Given the description of an element on the screen output the (x, y) to click on. 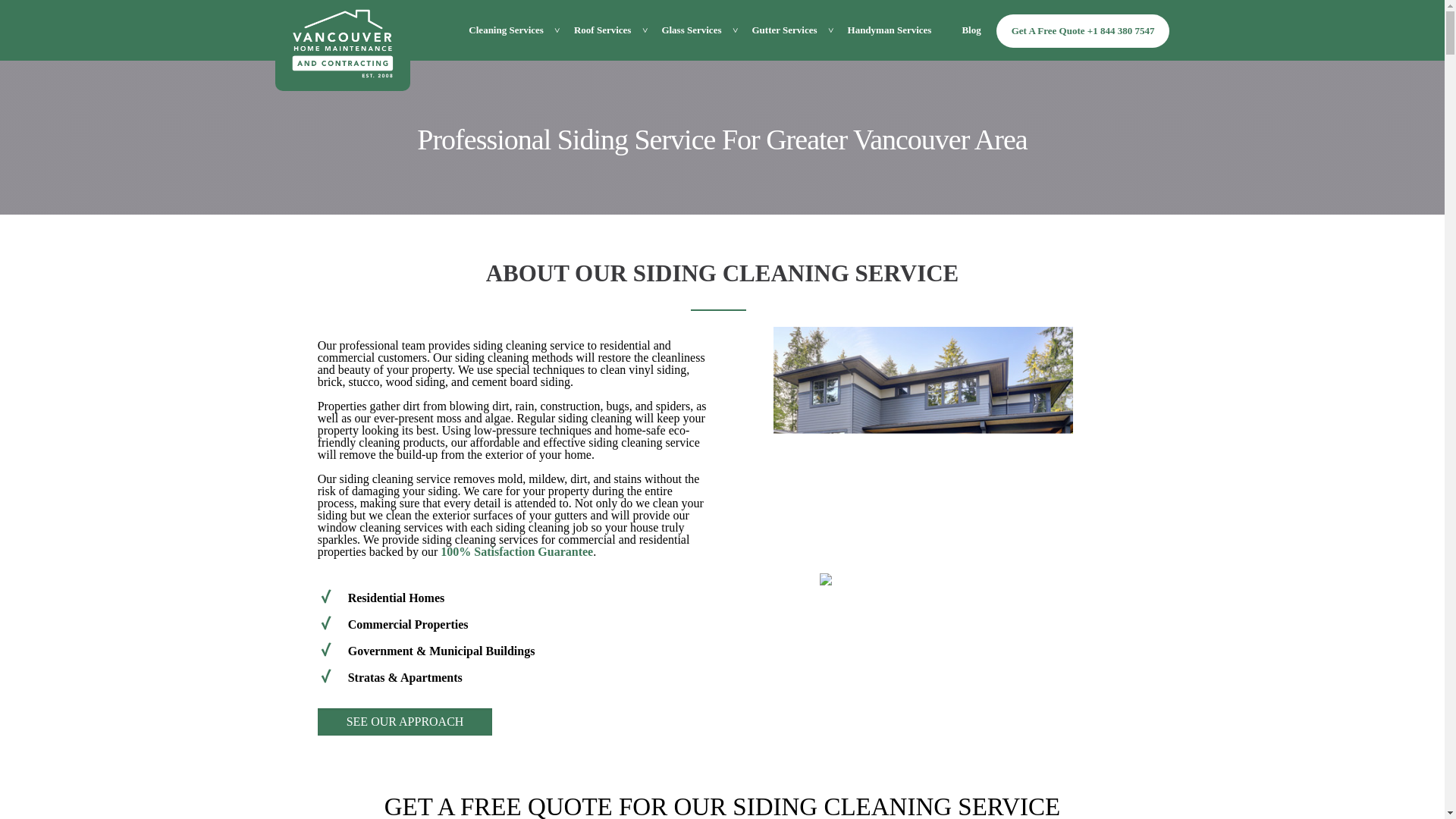
Cleaning Services (505, 30)
Gutter Services (783, 30)
Roof Services (602, 30)
Glass Services (691, 30)
Handyman Services (889, 30)
